Given the description of an element on the screen output the (x, y) to click on. 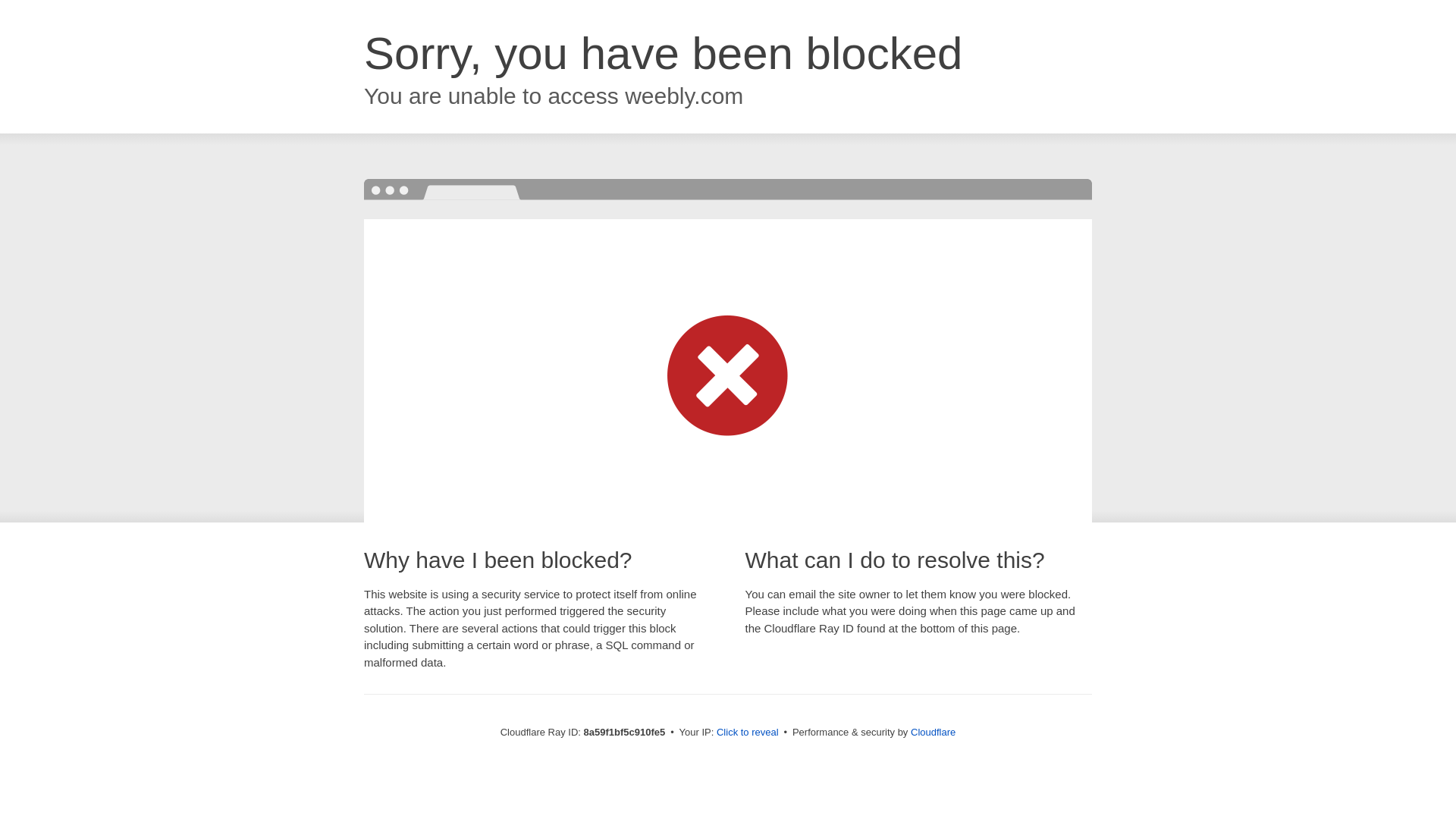
Click to reveal (747, 732)
Cloudflare (933, 731)
